Given the description of an element on the screen output the (x, y) to click on. 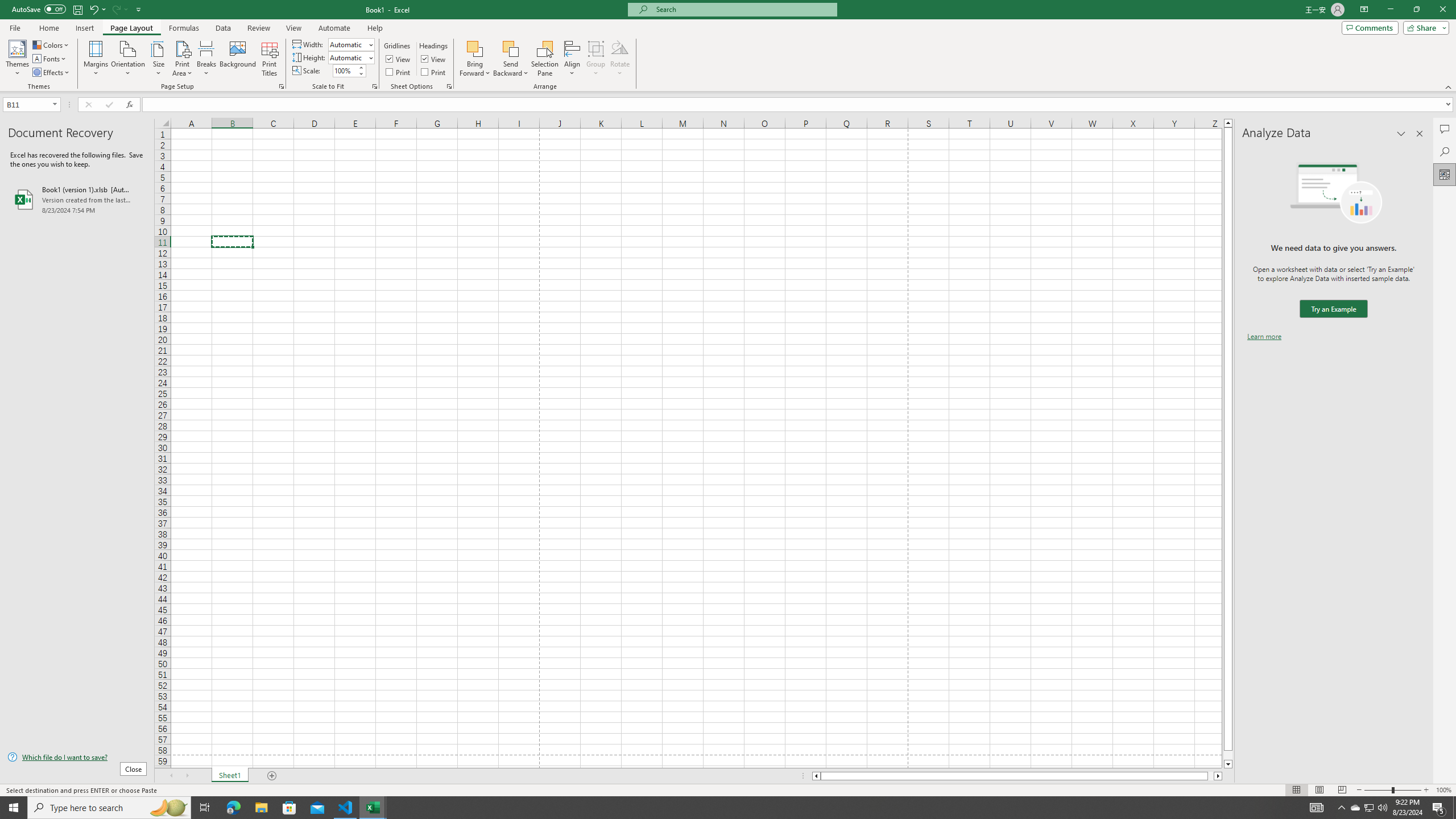
Bring Forward (475, 48)
Breaks (206, 58)
Formula Bar (799, 104)
Selection Pane... (544, 58)
AutoSave (38, 9)
Colors (51, 44)
Align (571, 58)
